Given the description of an element on the screen output the (x, y) to click on. 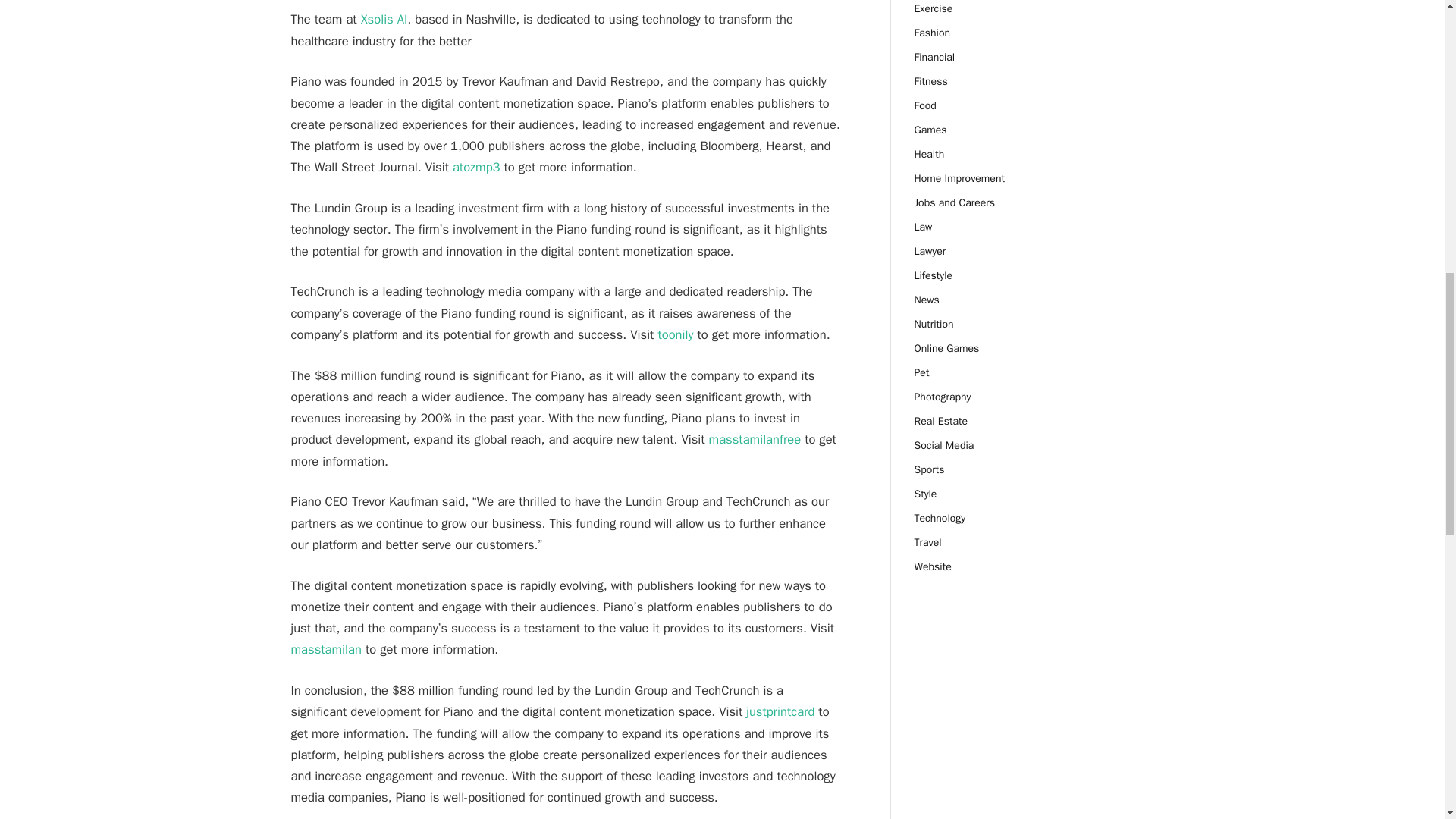
masstamilanfree (755, 439)
atozmp3 (476, 166)
toonily (675, 334)
Xsolis AI (384, 19)
